Given the description of an element on the screen output the (x, y) to click on. 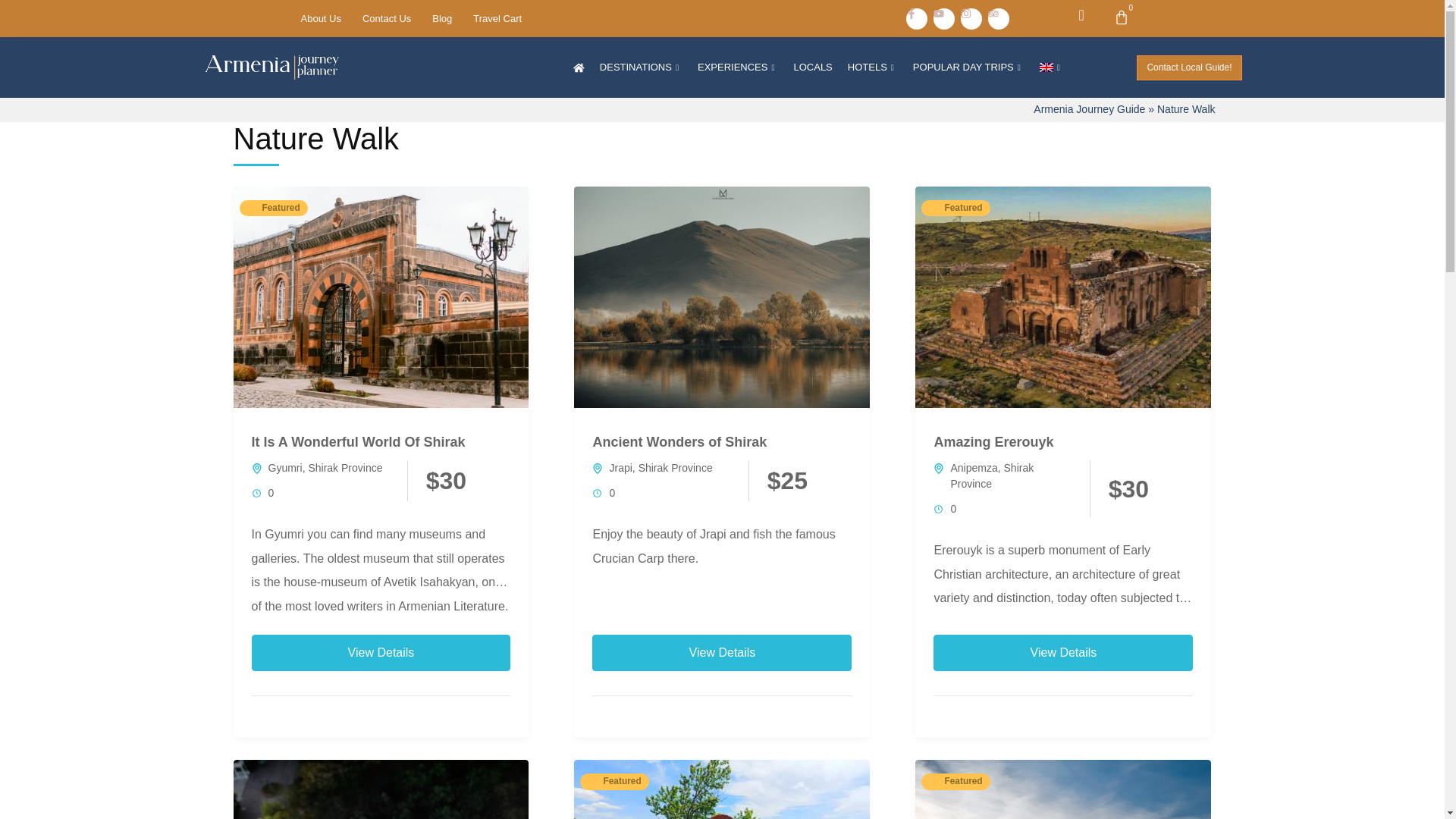
Travel Cart (497, 17)
0 (1121, 18)
About Us (319, 17)
DESTINATIONS (641, 67)
Contact Us (387, 17)
Blog (442, 17)
